Given the description of an element on the screen output the (x, y) to click on. 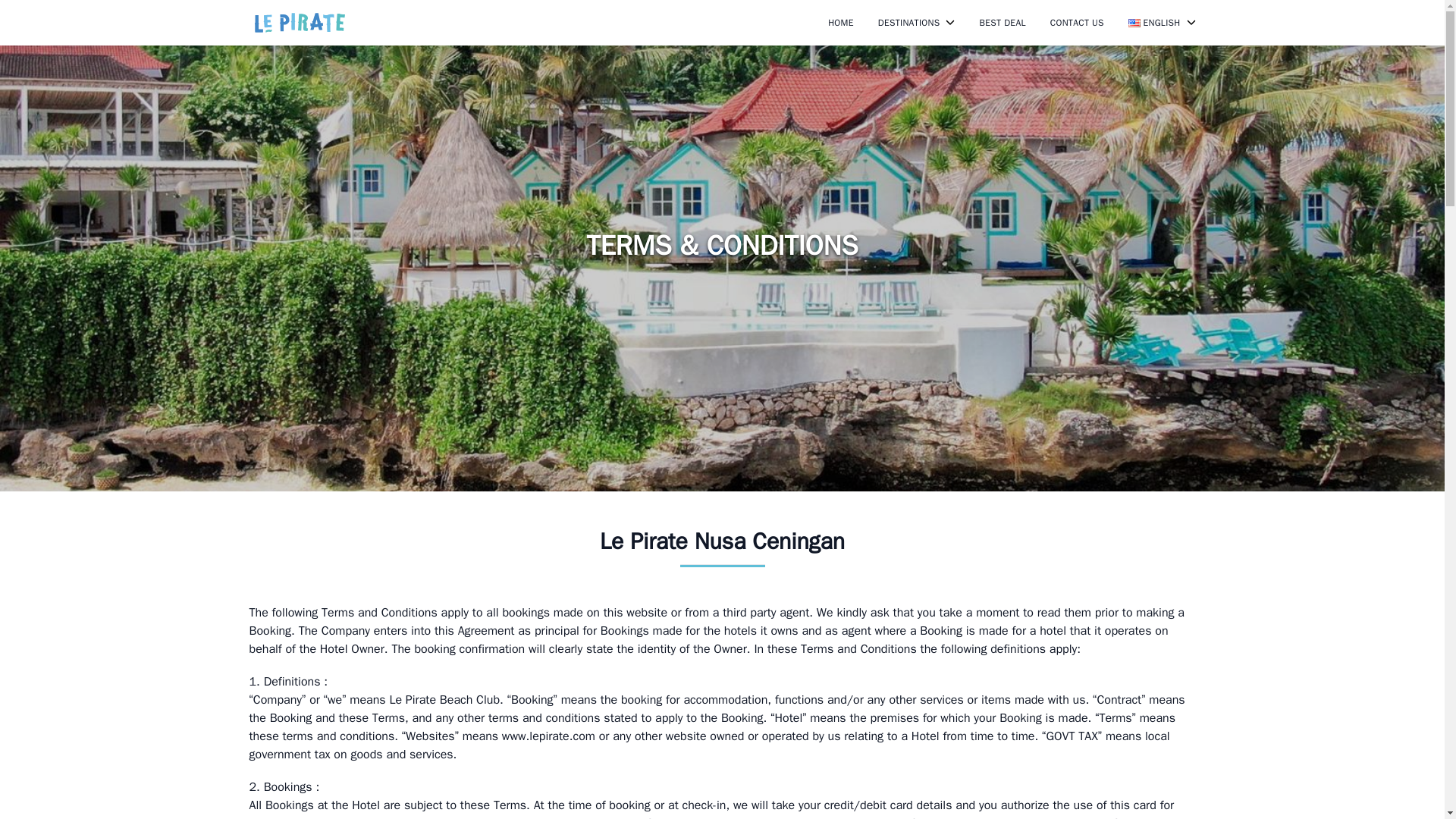
CONTACT US (1076, 22)
BEST DEAL (1001, 22)
HOME (840, 22)
DESTINATIONS (916, 22)
ENGLISH (1161, 22)
